Given the description of an element on the screen output the (x, y) to click on. 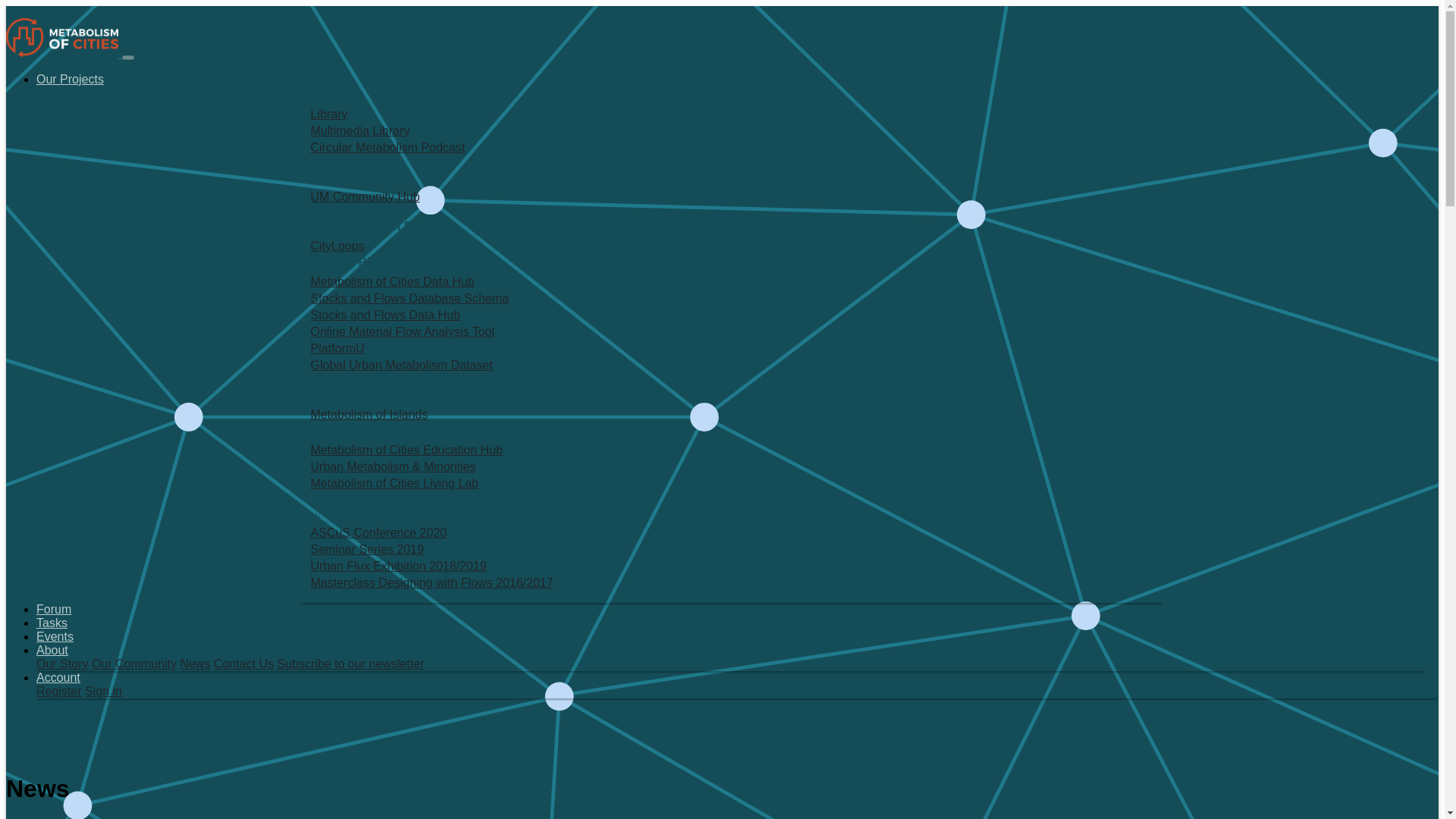
Forum (53, 608)
Metabolism of Cities Living Lab (732, 483)
Account (58, 676)
Circular Metabolism Podcast (732, 147)
Metabolism of Cities Education Hub (732, 450)
Global Urban Metabolism Dataset (732, 365)
Our Story (61, 663)
Metabolism of Islands (732, 414)
Seminar Series 2019 (732, 549)
UM Community Hub (732, 197)
Tasks (51, 622)
Stocks and Flows Database Schema (732, 298)
About (52, 649)
News (194, 663)
Events (55, 635)
